Given the description of an element on the screen output the (x, y) to click on. 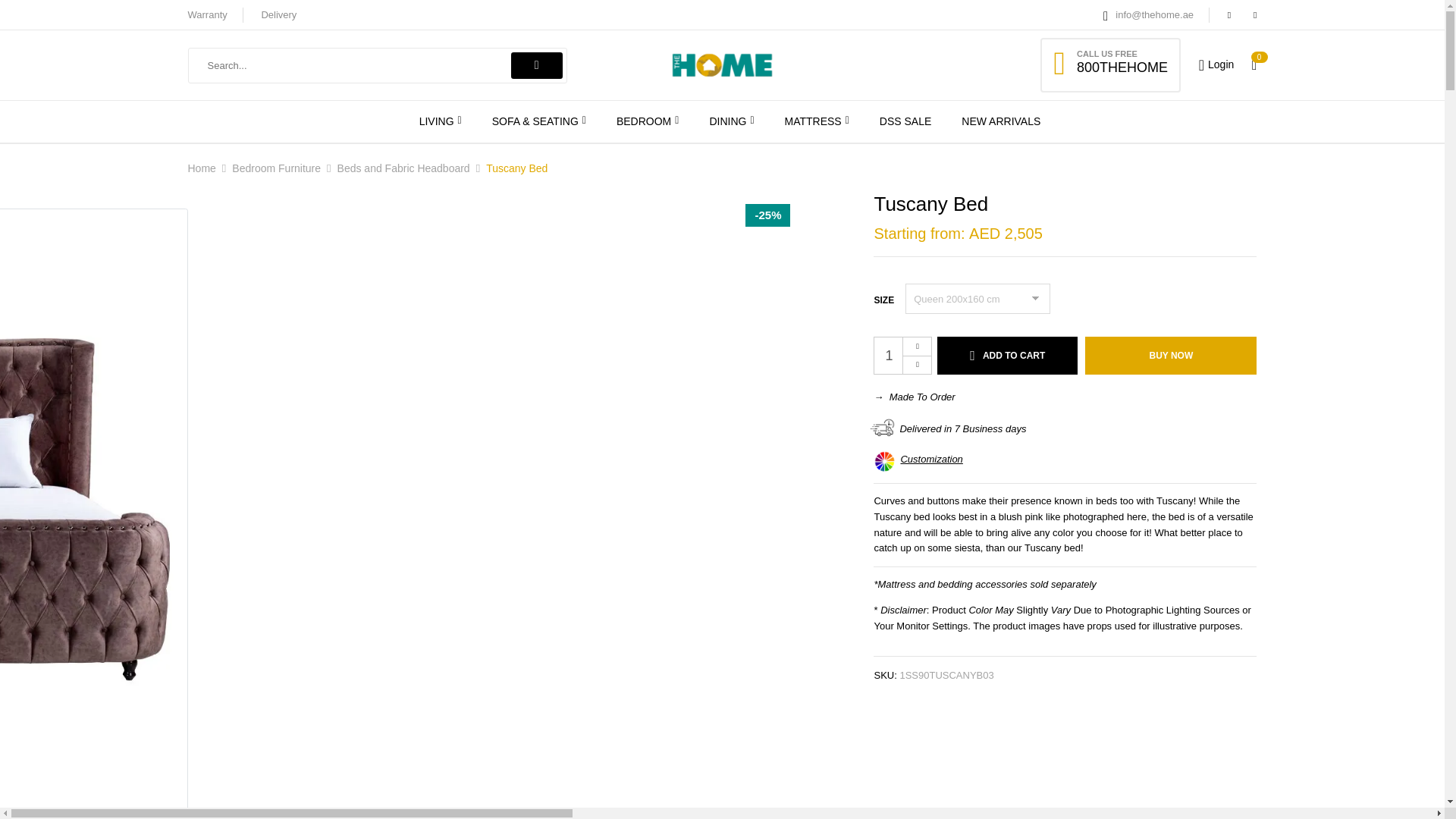
800THEHOME (1122, 67)
search (536, 64)
Qty (903, 355)
BEDROOM (646, 121)
Warranty (207, 14)
Delivery (278, 14)
LIVING (440, 121)
1 (903, 355)
